Given the description of an element on the screen output the (x, y) to click on. 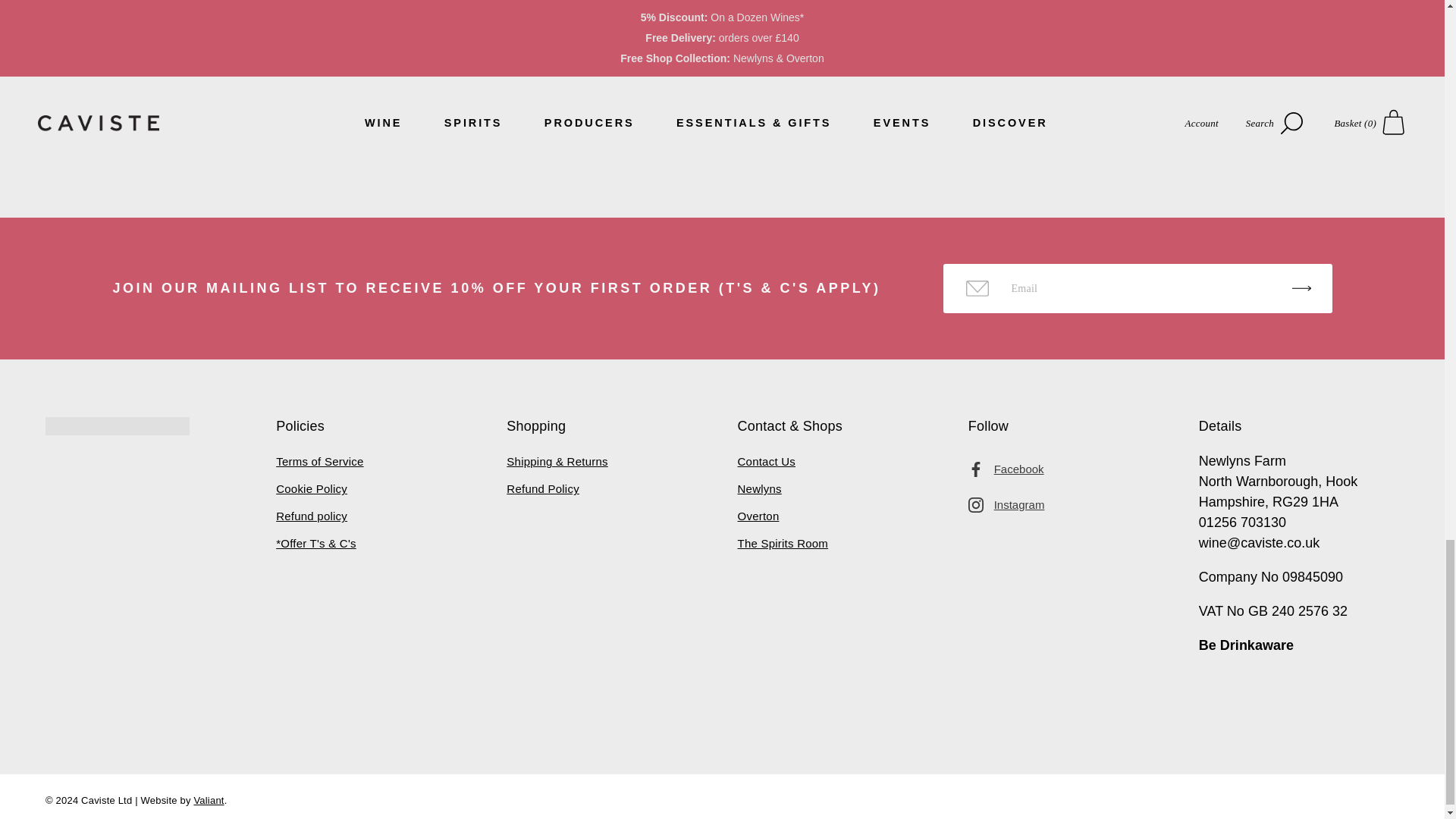
Drinkaware UK Link (1246, 645)
